Given the description of an element on the screen output the (x, y) to click on. 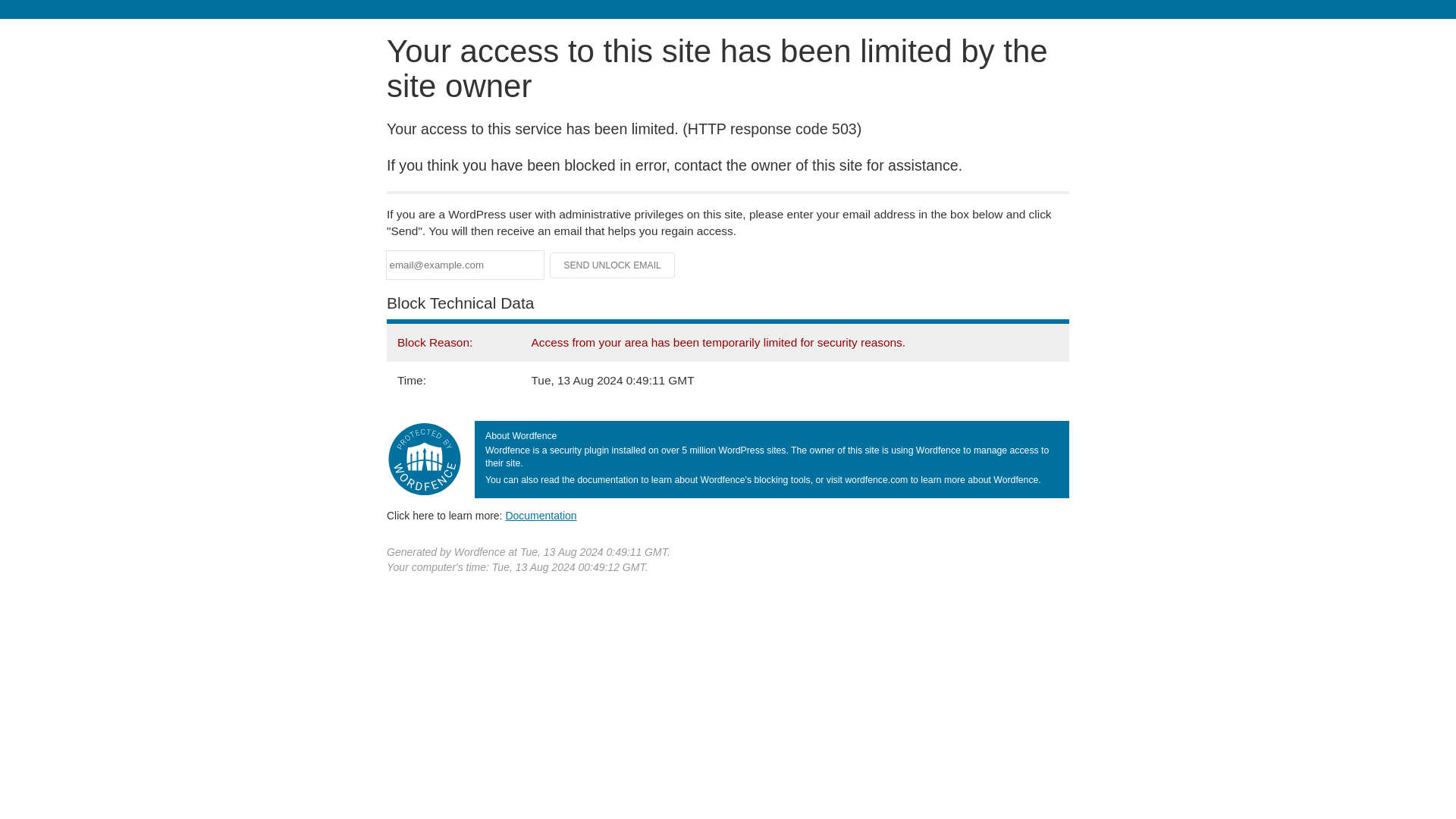
Documentation (540, 515)
Send Unlock Email (612, 265)
Send Unlock Email (612, 265)
